Given the description of an element on the screen output the (x, y) to click on. 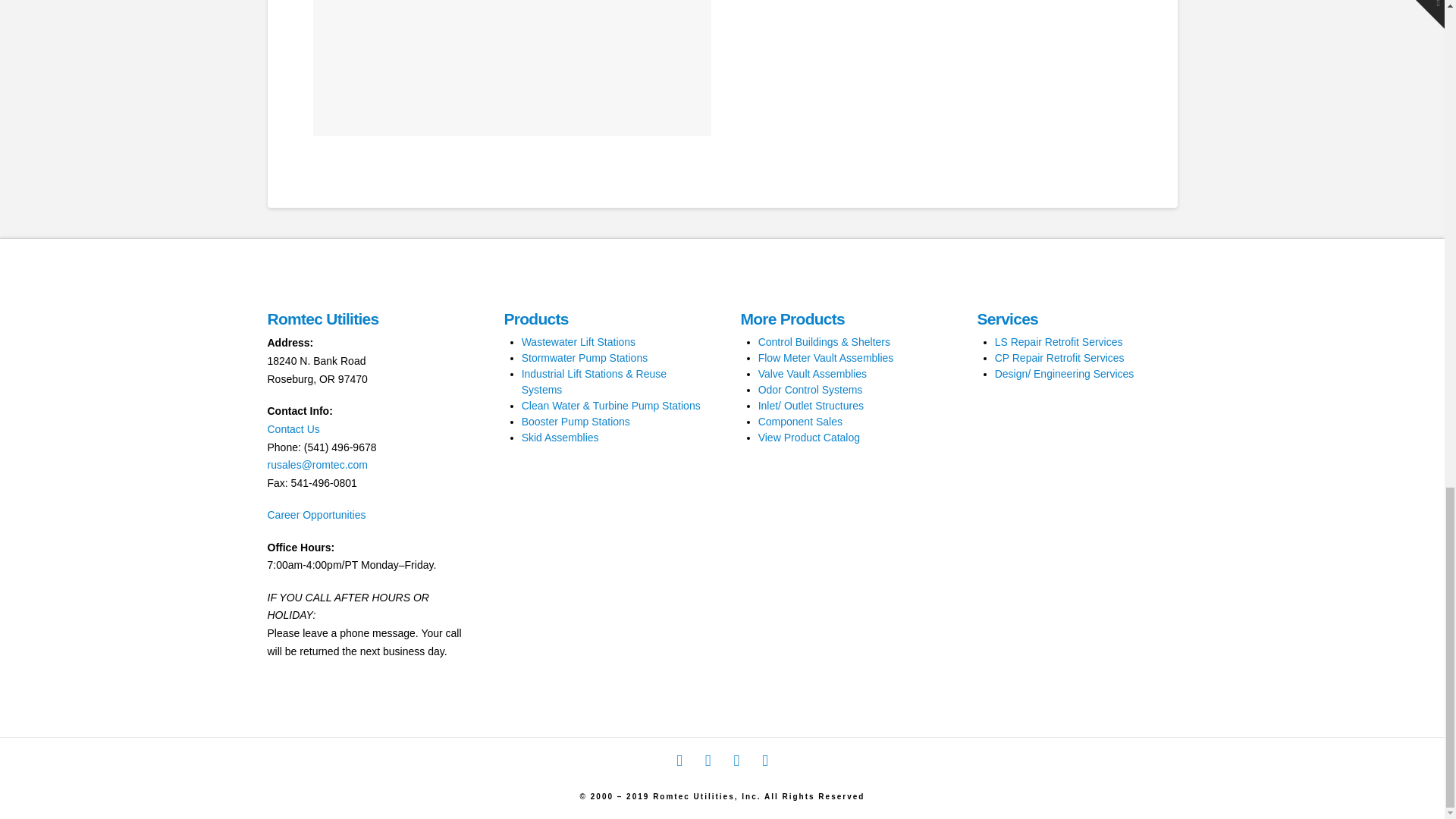
Facebook (679, 760)
LinkedIn (707, 760)
